Given the description of an element on the screen output the (x, y) to click on. 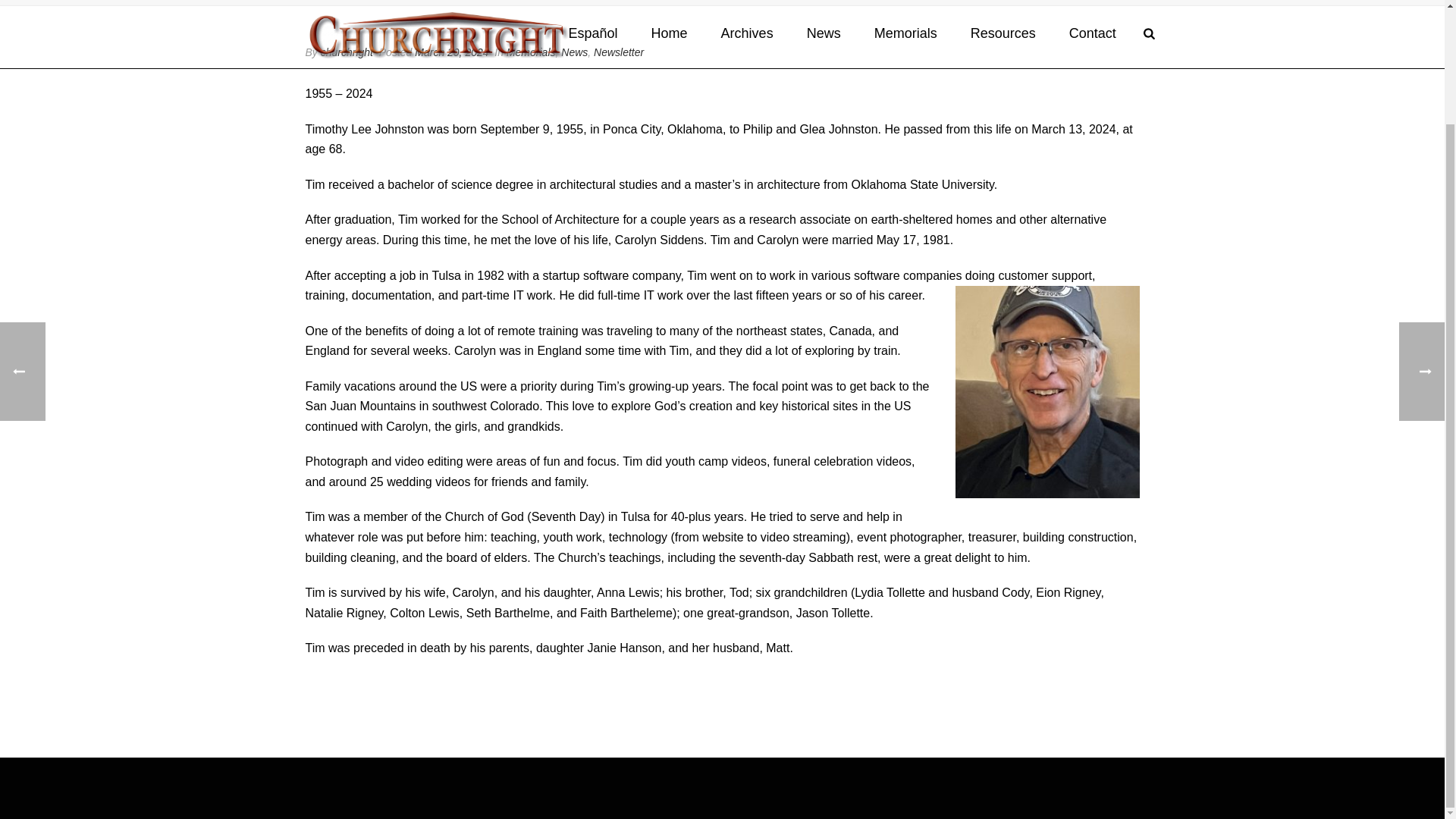
Posts by churchright (346, 51)
churchright (346, 51)
March 20, 2024 (450, 51)
